Given the description of an element on the screen output the (x, y) to click on. 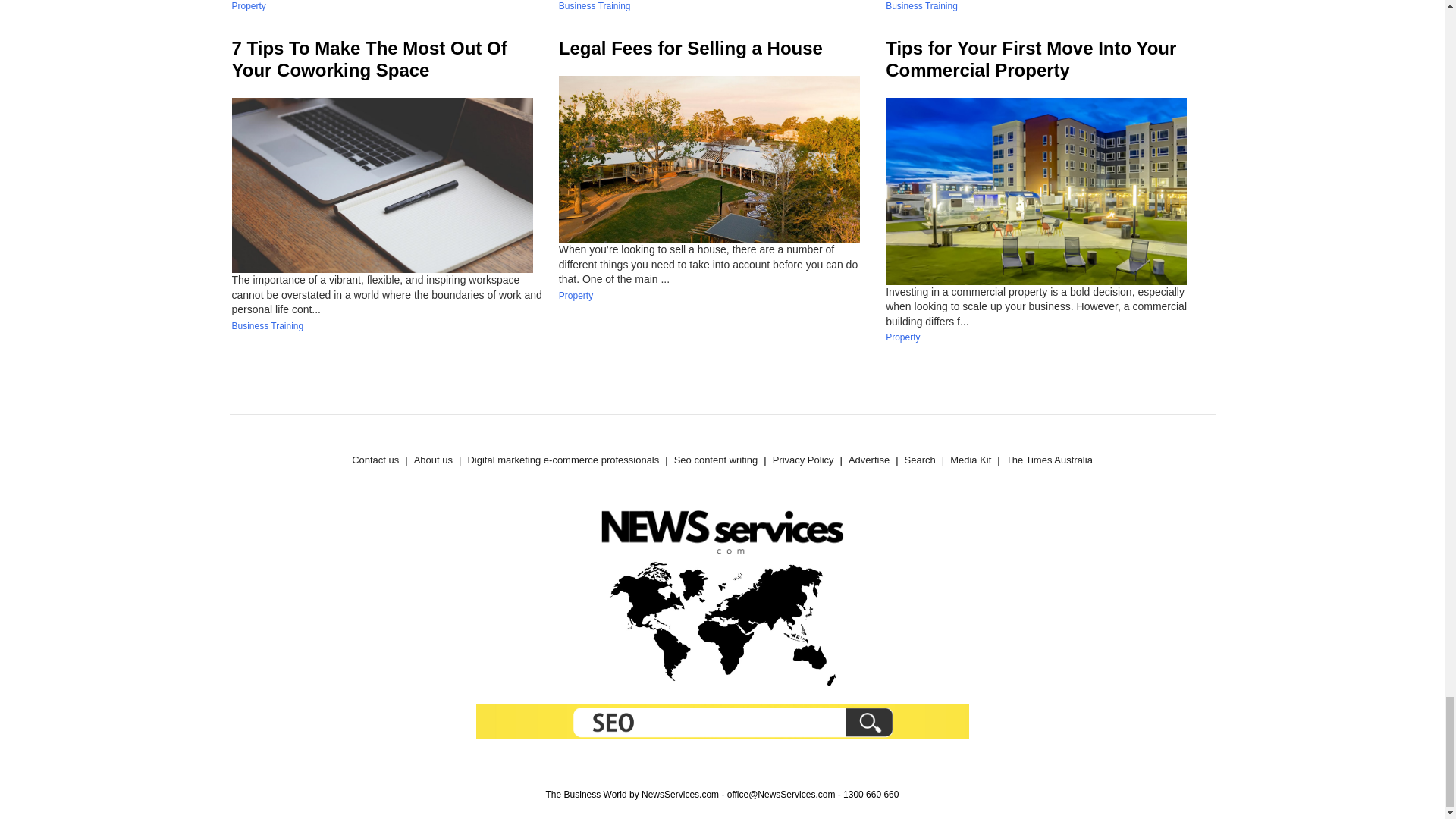
7 Tips To Make The Most Out Of Your Coworking Space (368, 58)
Legal Fees for Selling a House (690, 47)
Tips for Your First Move Into Your Commercial Property (1030, 58)
